Given the description of an element on the screen output the (x, y) to click on. 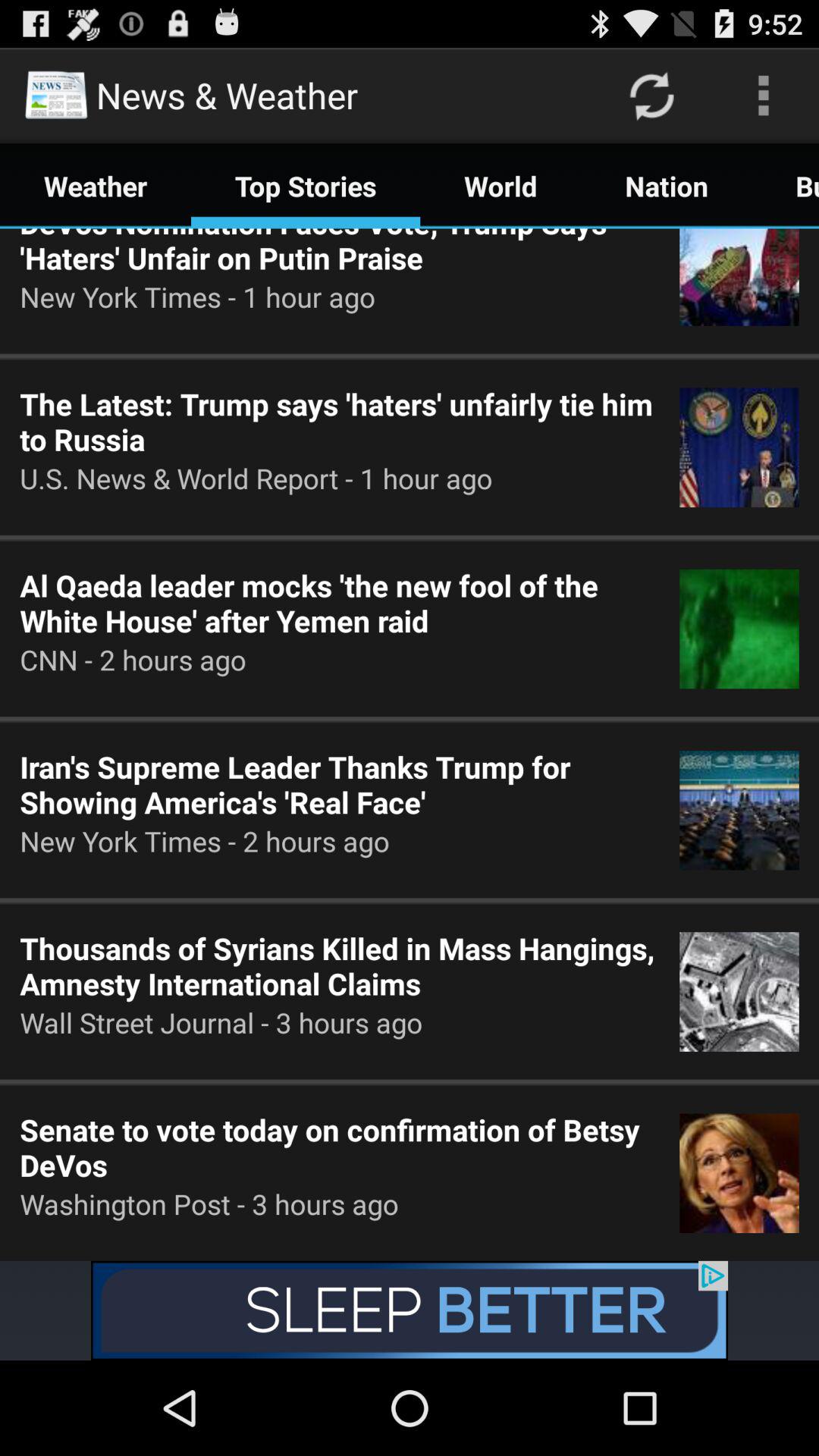
clickable advertisement (409, 1310)
